Given the description of an element on the screen output the (x, y) to click on. 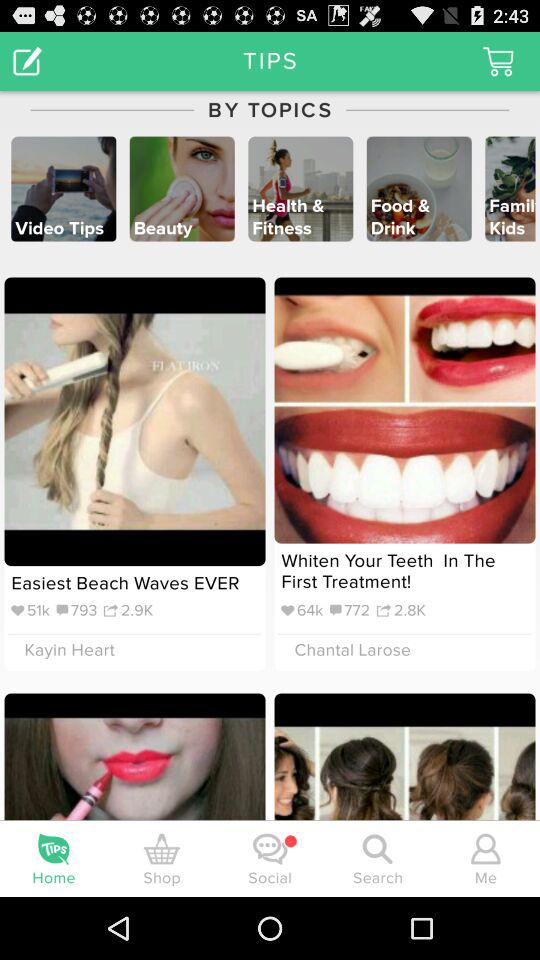
open the icon to the left of by topics item (27, 60)
